Given the description of an element on the screen output the (x, y) to click on. 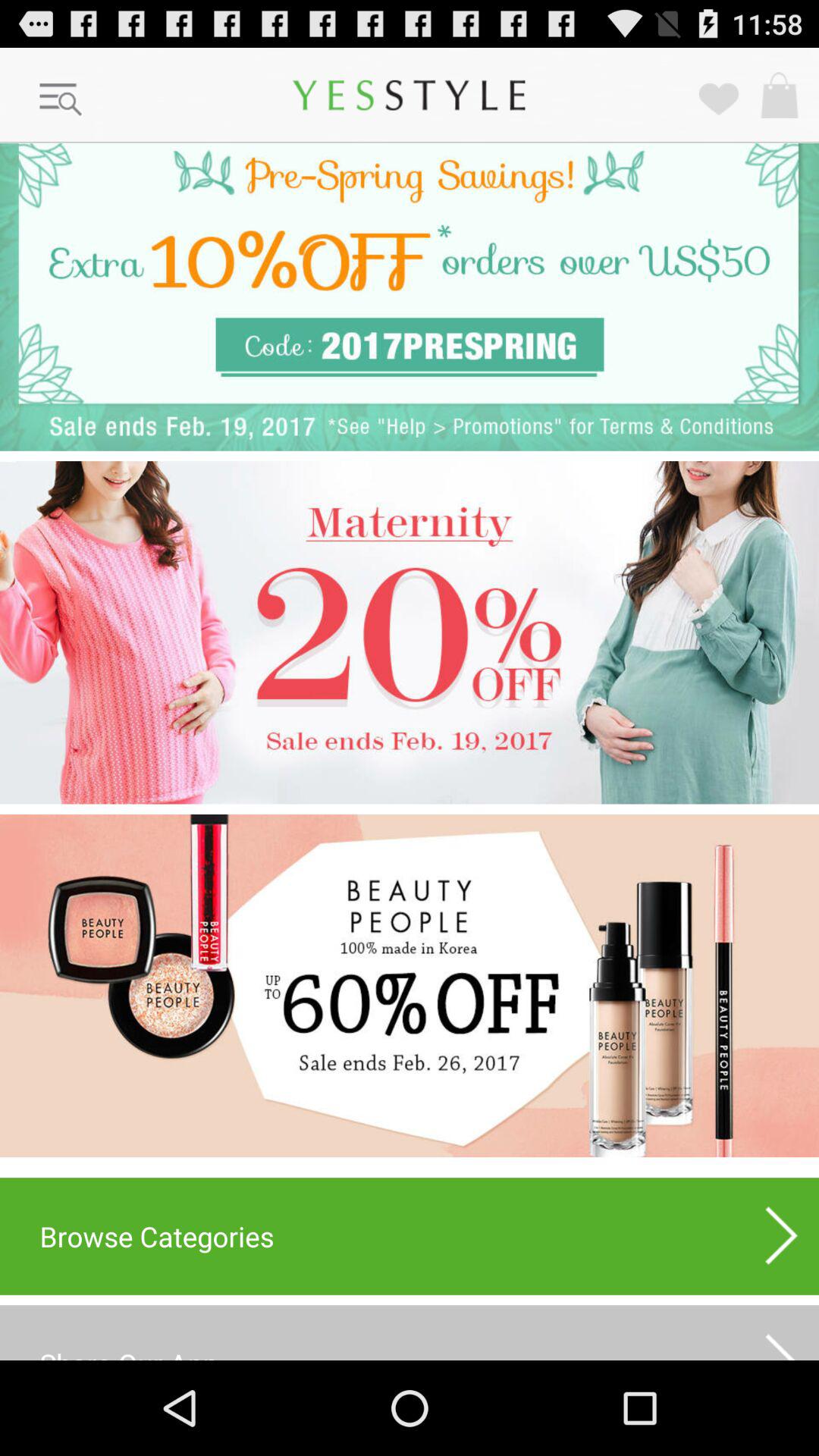
coupon link (409, 297)
